Given the description of an element on the screen output the (x, y) to click on. 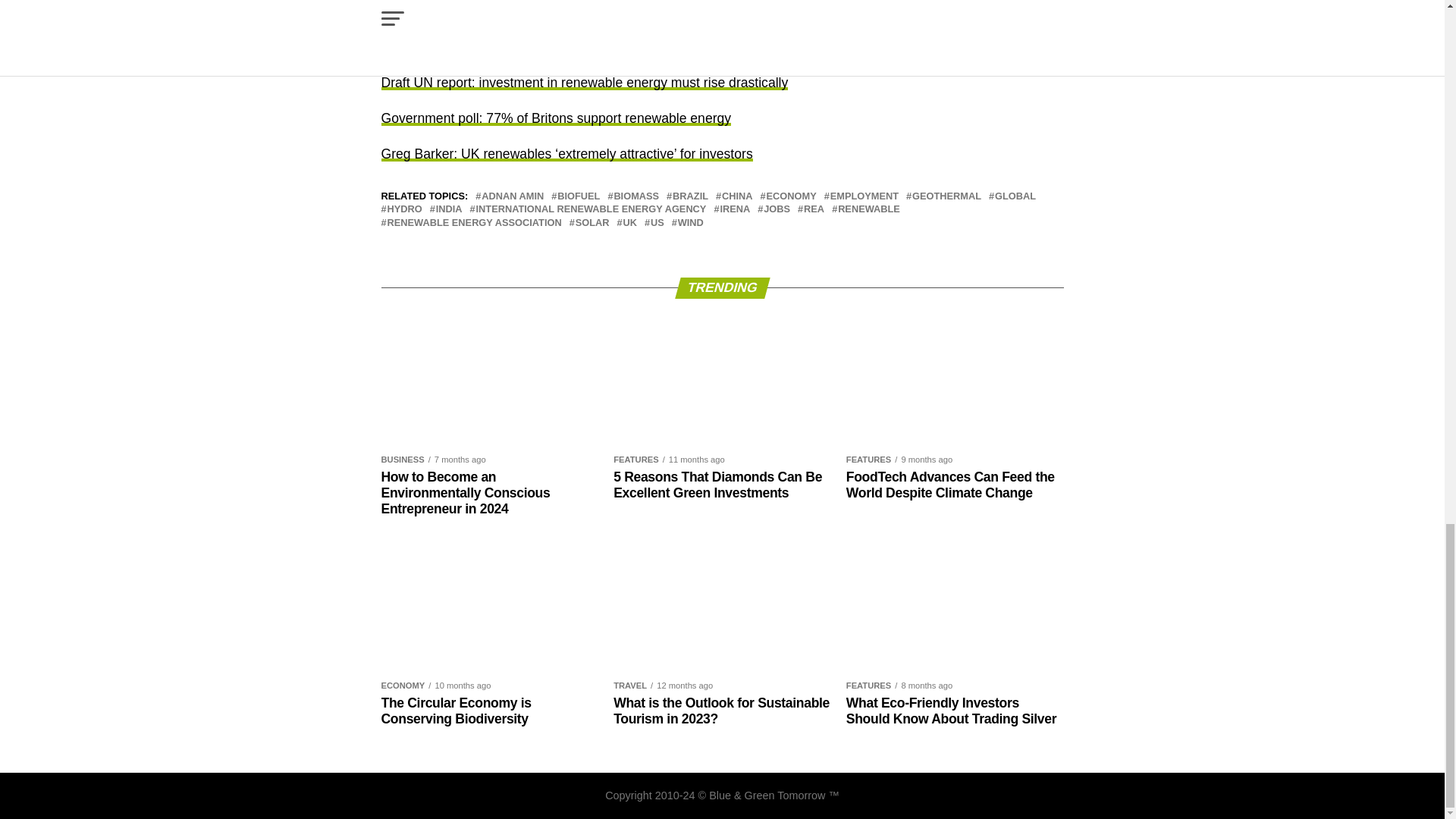
BIOFUEL (578, 196)
RENEWABLE ENERGY ASSOCIATION (473, 223)
INTERNATIONAL RENEWABLE ENERGY AGENCY (591, 209)
BRAZIL (689, 196)
JOBS (776, 209)
SOLAR (592, 223)
ADNAN AMIN (512, 196)
GEOTHERMAL (946, 196)
US (656, 223)
ECONOMY (791, 196)
CHINA (737, 196)
INDIA (449, 209)
HYDRO (404, 209)
UK (629, 223)
